Given the description of an element on the screen output the (x, y) to click on. 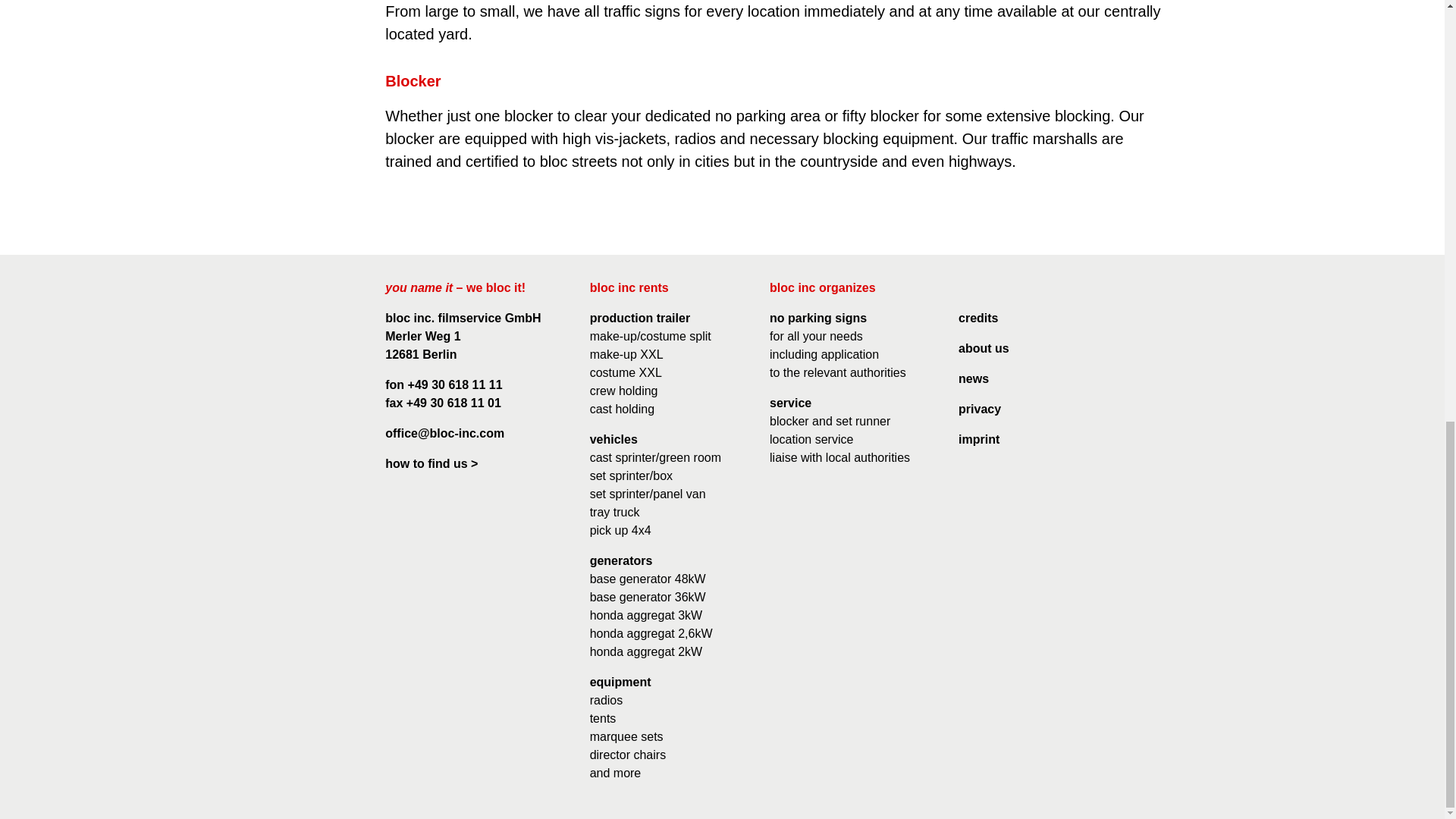
base generator 48kW (647, 578)
crew holding (623, 390)
costume XXL (625, 372)
production trailer (639, 318)
base generator 36kW (647, 596)
cast holding (621, 408)
honda aggregat 3kW (646, 615)
generators (620, 560)
equipment (619, 681)
tray truck (614, 512)
